Given the description of an element on the screen output the (x, y) to click on. 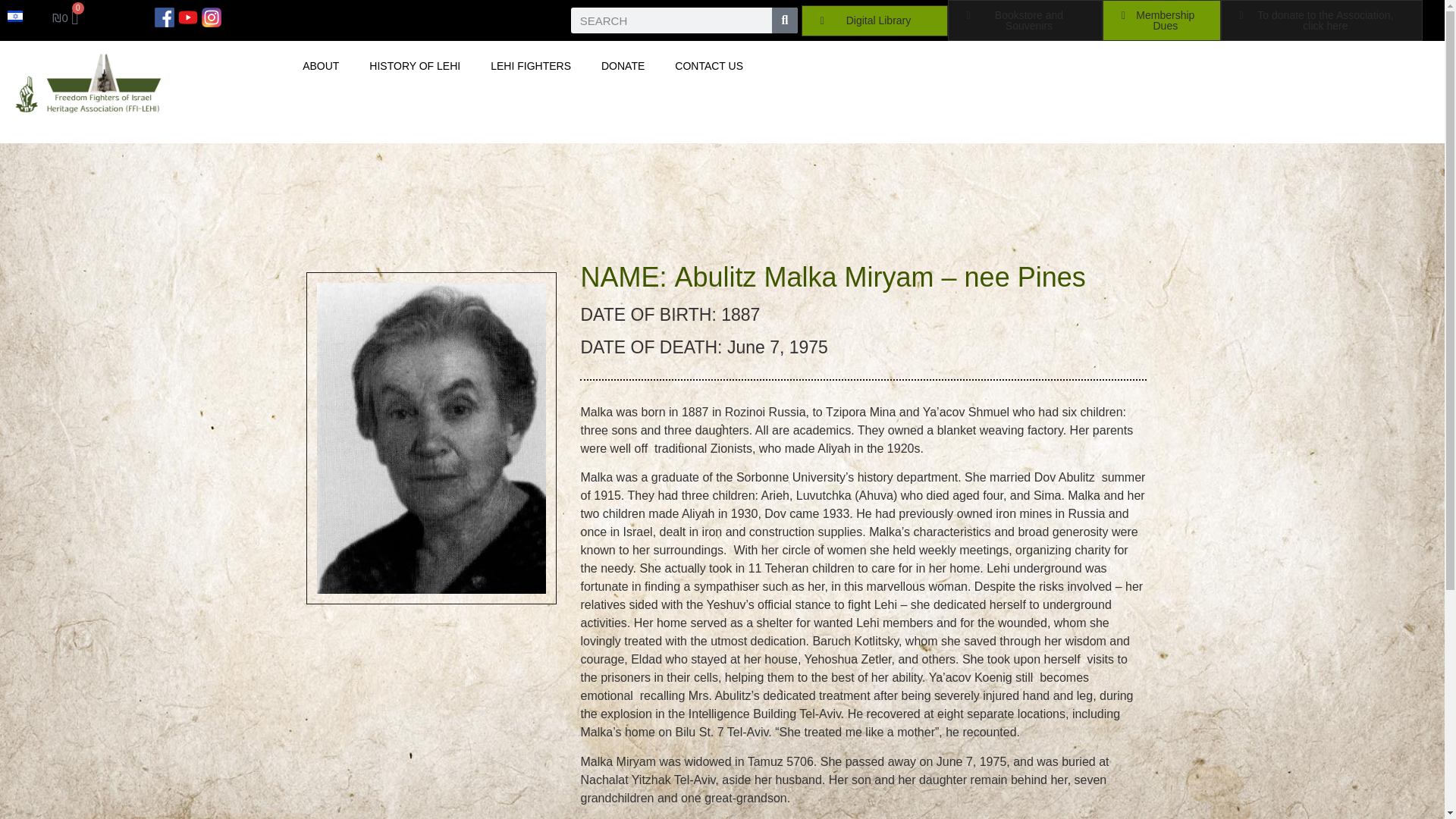
LEHI FIGHTERS (531, 65)
DONATE (622, 65)
Bookstore and Souvenirs (1024, 20)
Membership Dues (1161, 20)
To donate to the Association, click here (1322, 20)
Digital Library (874, 20)
CONTACT US (708, 65)
ABOUT (319, 65)
HISTORY OF LEHI (414, 65)
